Given the description of an element on the screen output the (x, y) to click on. 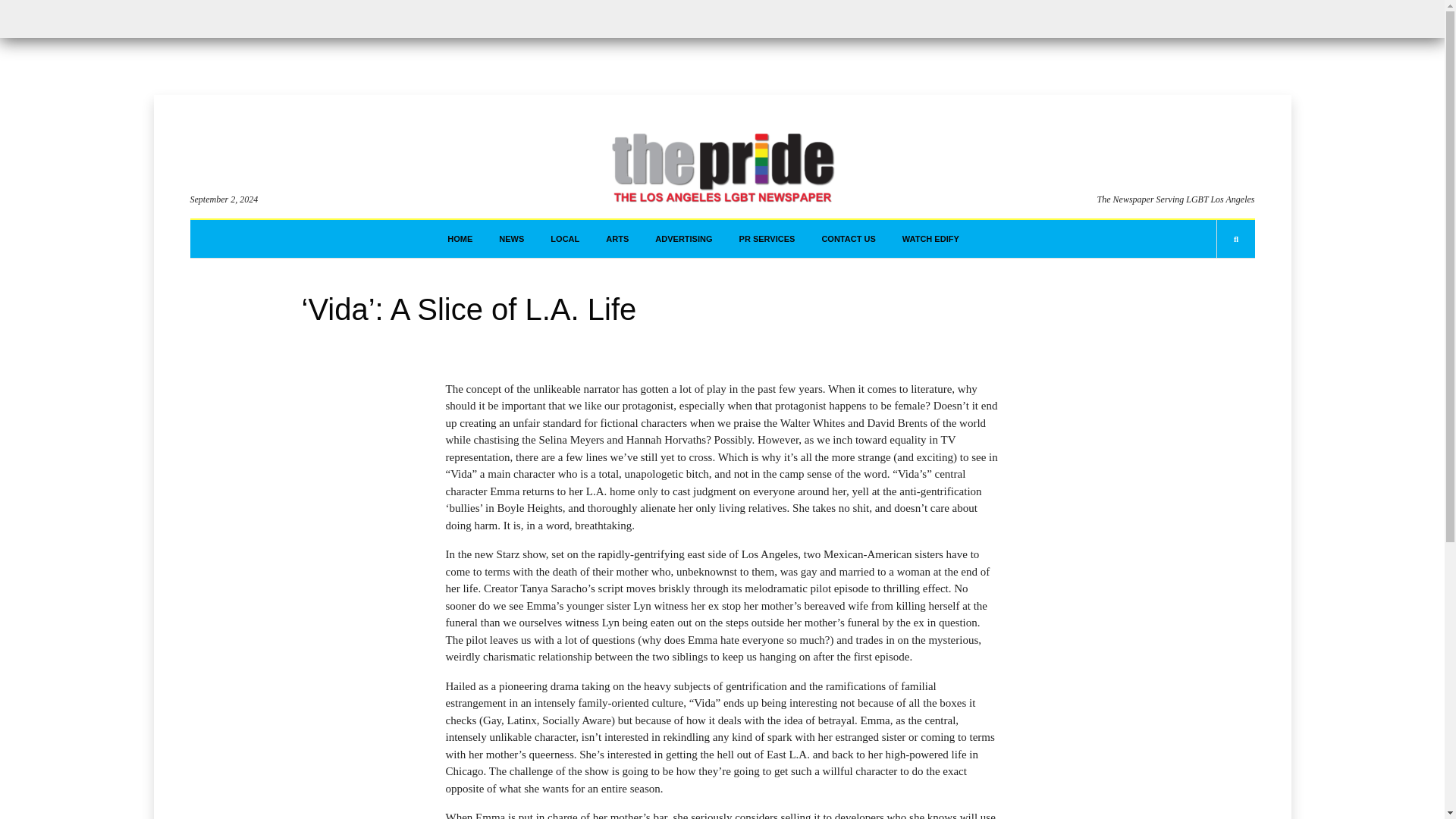
PR SERVICES (766, 238)
ADVERTISING (683, 238)
CONTACT US (848, 238)
WATCH EDIFY (930, 238)
